Given the description of an element on the screen output the (x, y) to click on. 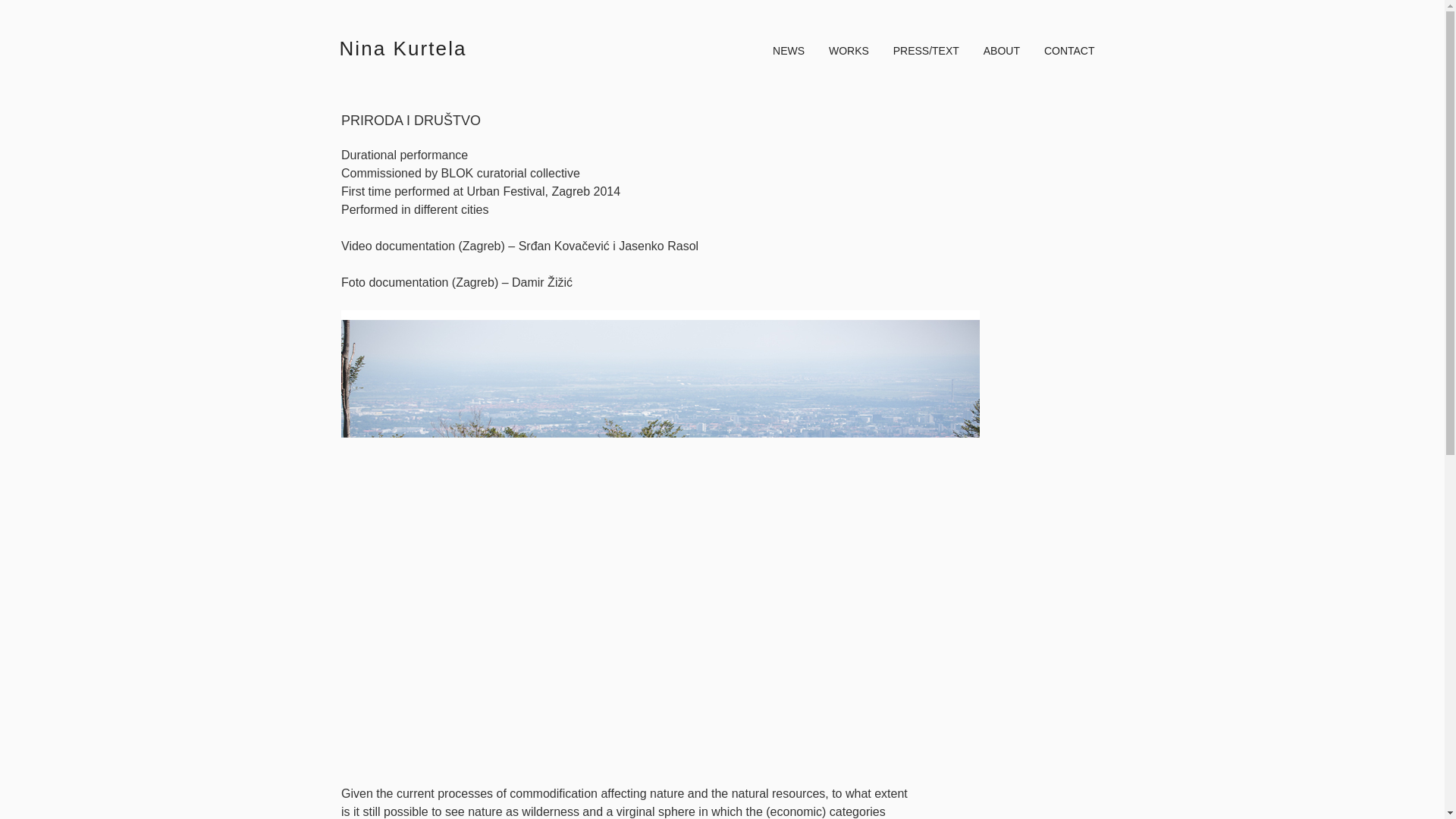
ABOUT (1001, 49)
CONTACT (1069, 49)
Nina Kurtela (403, 47)
NEWS (788, 49)
WORKS (848, 49)
